Given the description of an element on the screen output the (x, y) to click on. 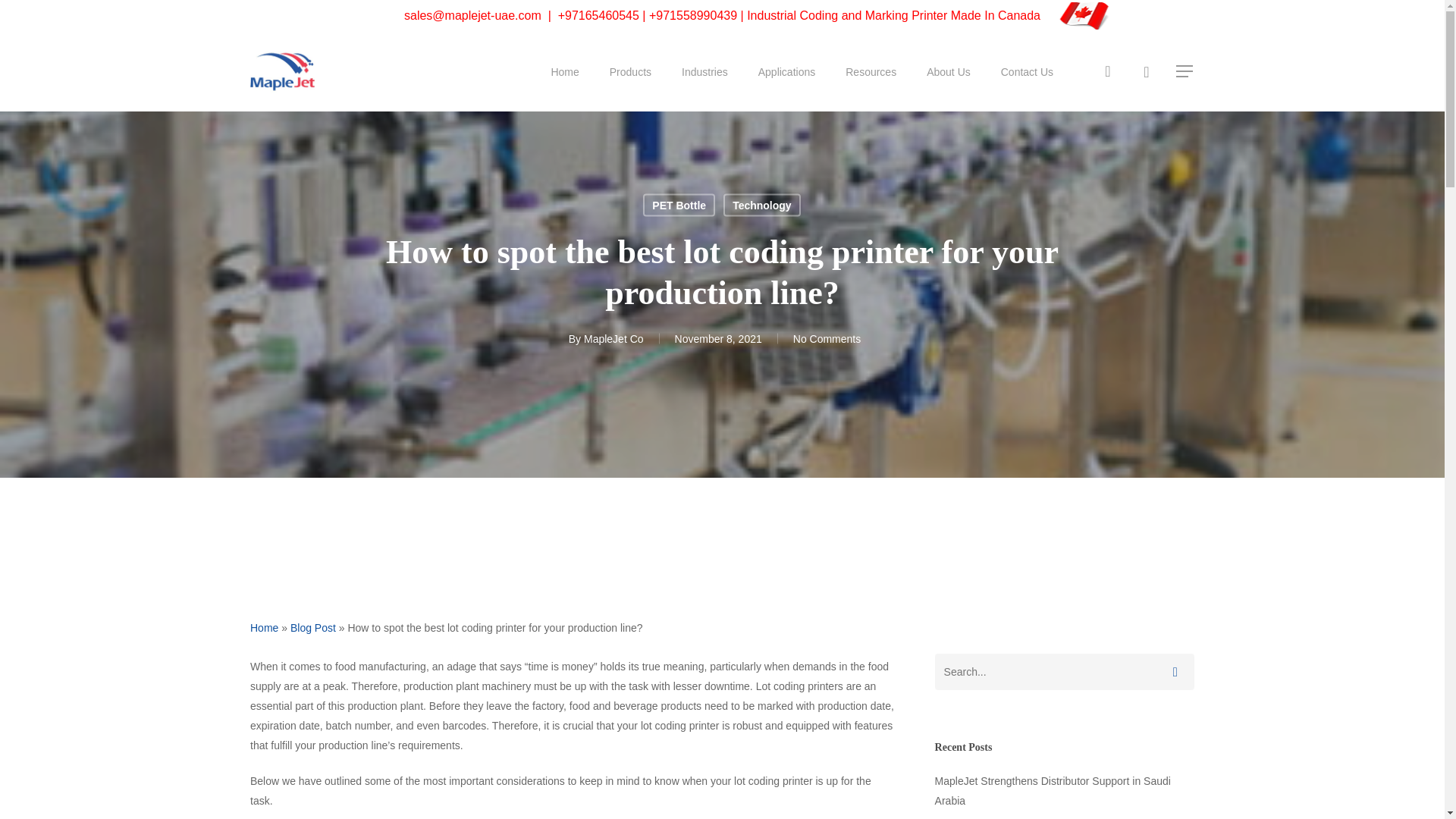
Applications (786, 70)
Search for: (1063, 671)
Industries (704, 70)
Products (630, 70)
Posts by MapleJet Co (613, 337)
Home (564, 70)
